Given the description of an element on the screen output the (x, y) to click on. 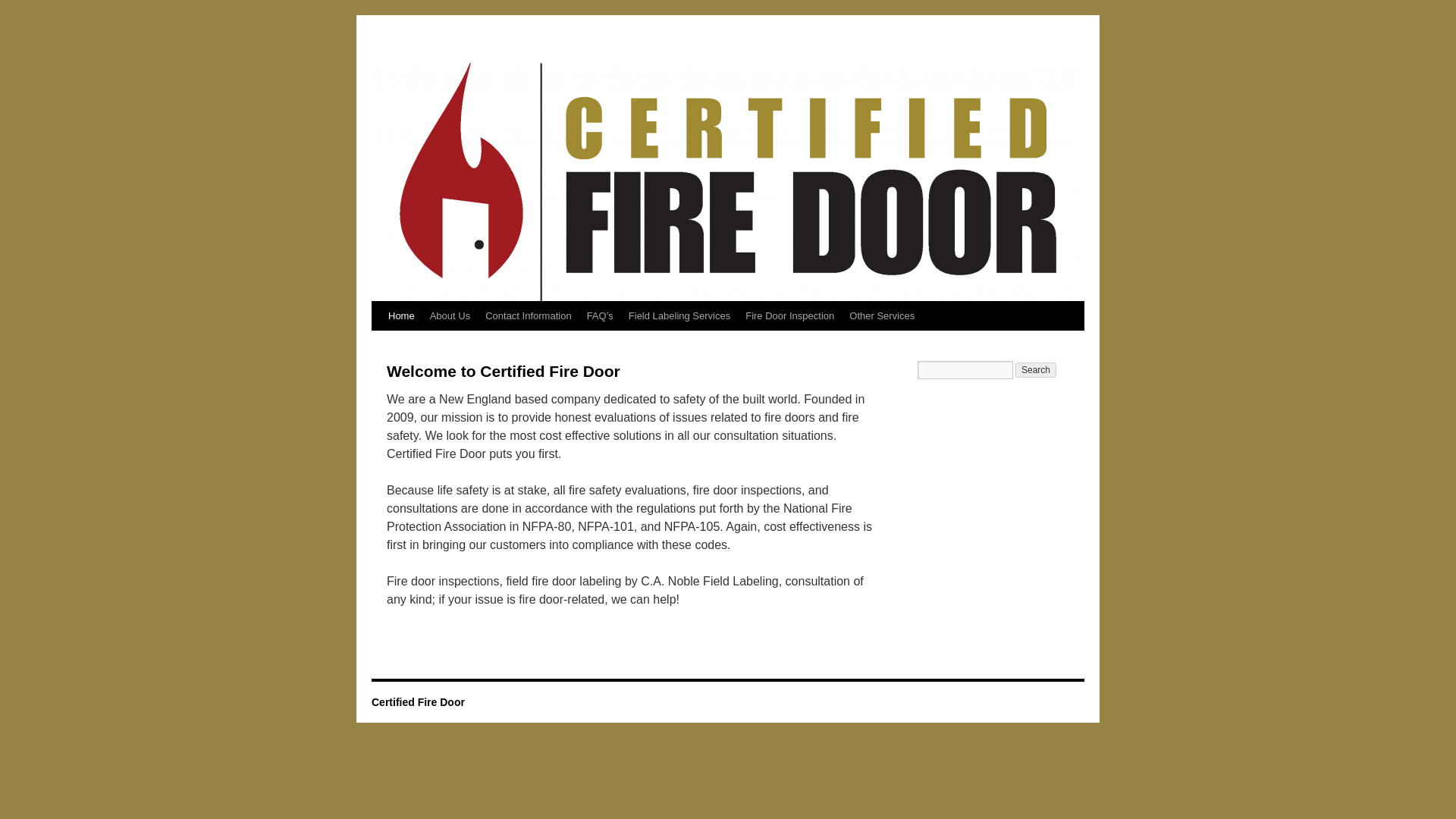
Other Services (881, 316)
About Us (449, 316)
Search (1035, 369)
Contact Information (527, 316)
Home (401, 316)
Fire Door Inspection (789, 316)
Search (1035, 369)
Field Labeling Services (679, 316)
